Given the description of an element on the screen output the (x, y) to click on. 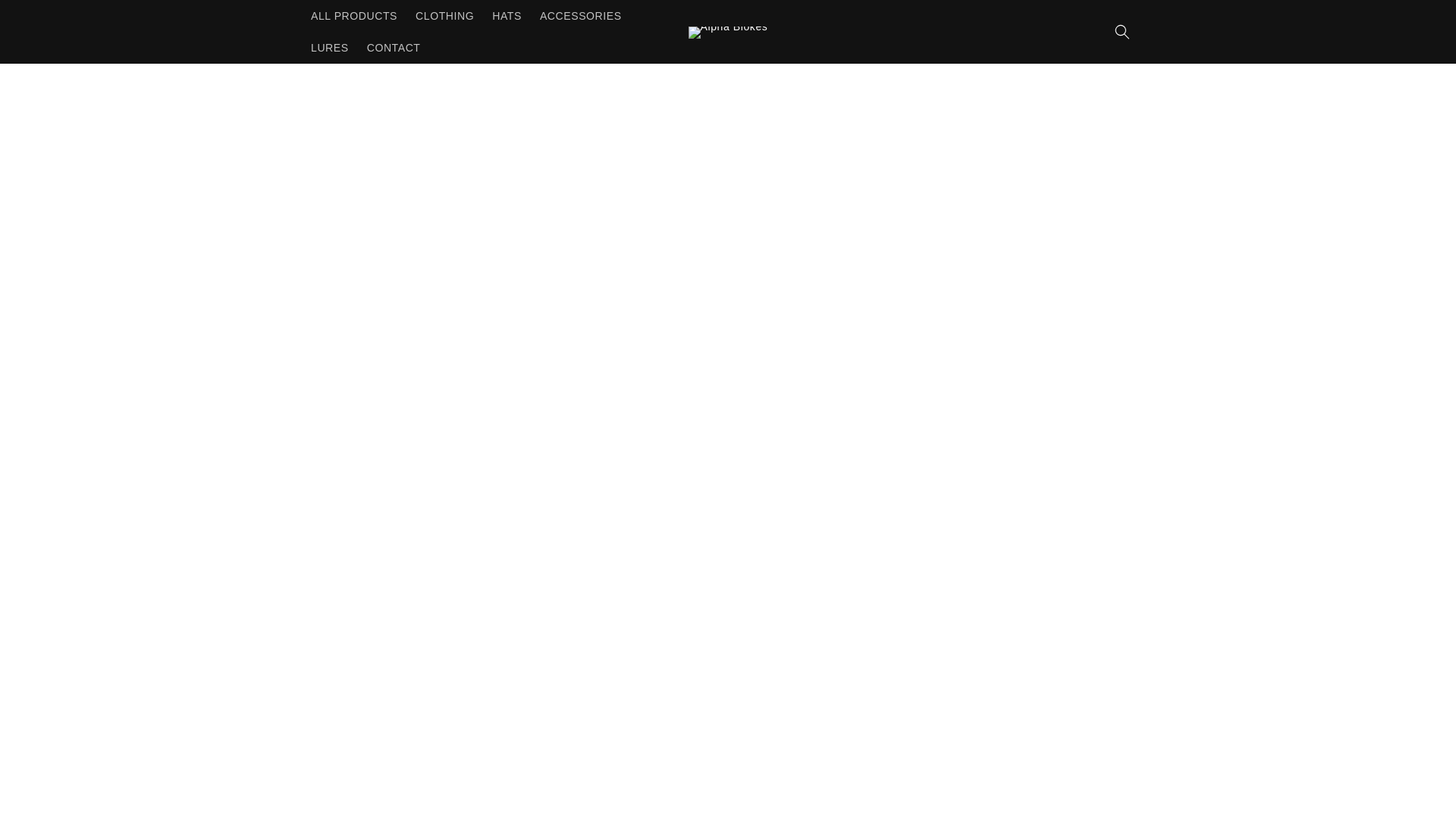
HATS (507, 15)
CLOTHING (444, 15)
LURES (329, 47)
Skip to content (45, 17)
CONTACT (393, 47)
ALL PRODUCTS (353, 15)
ACCESSORIES (580, 15)
